Given the description of an element on the screen output the (x, y) to click on. 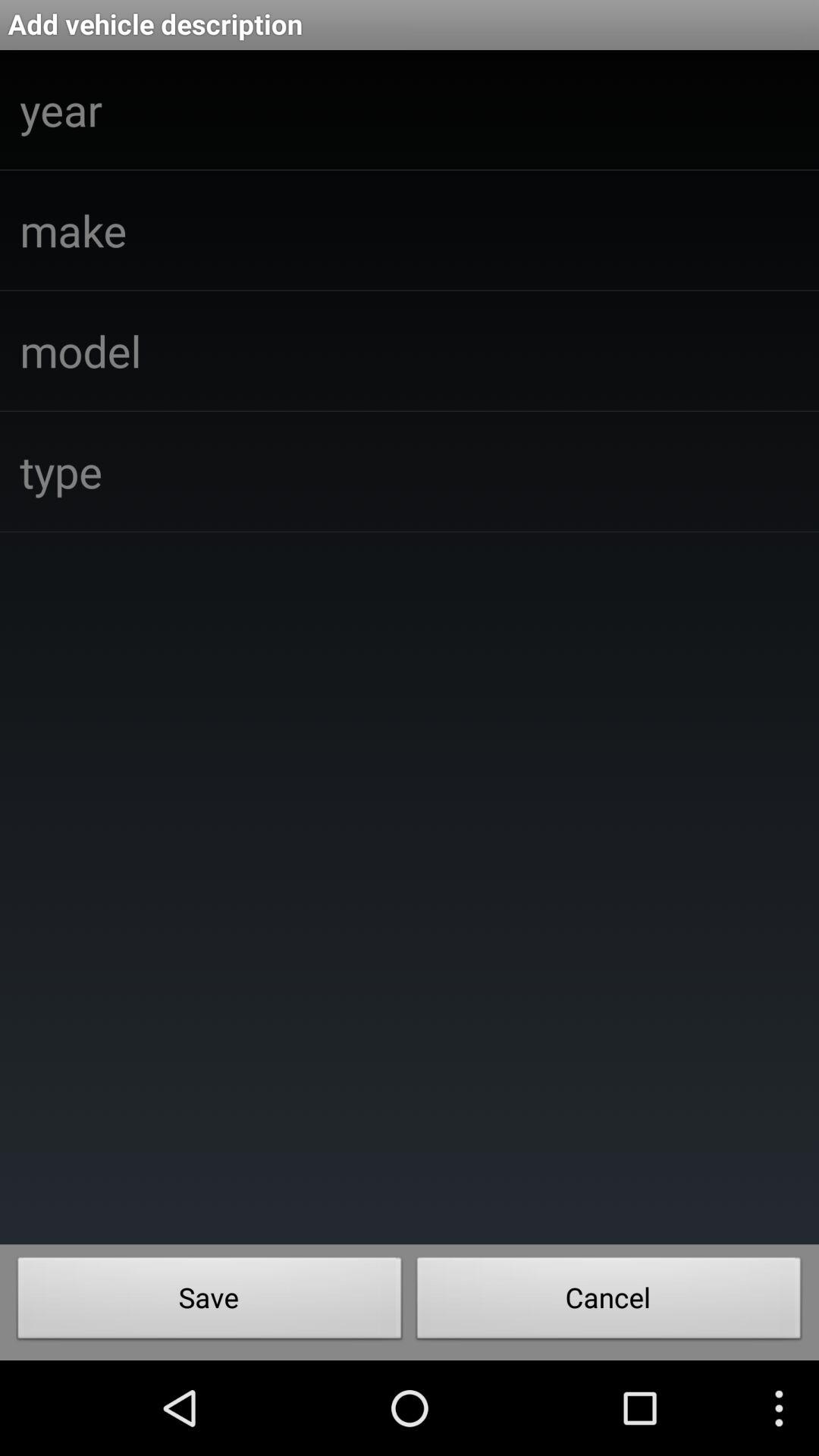
tap icon next to save (608, 1302)
